Given the description of an element on the screen output the (x, y) to click on. 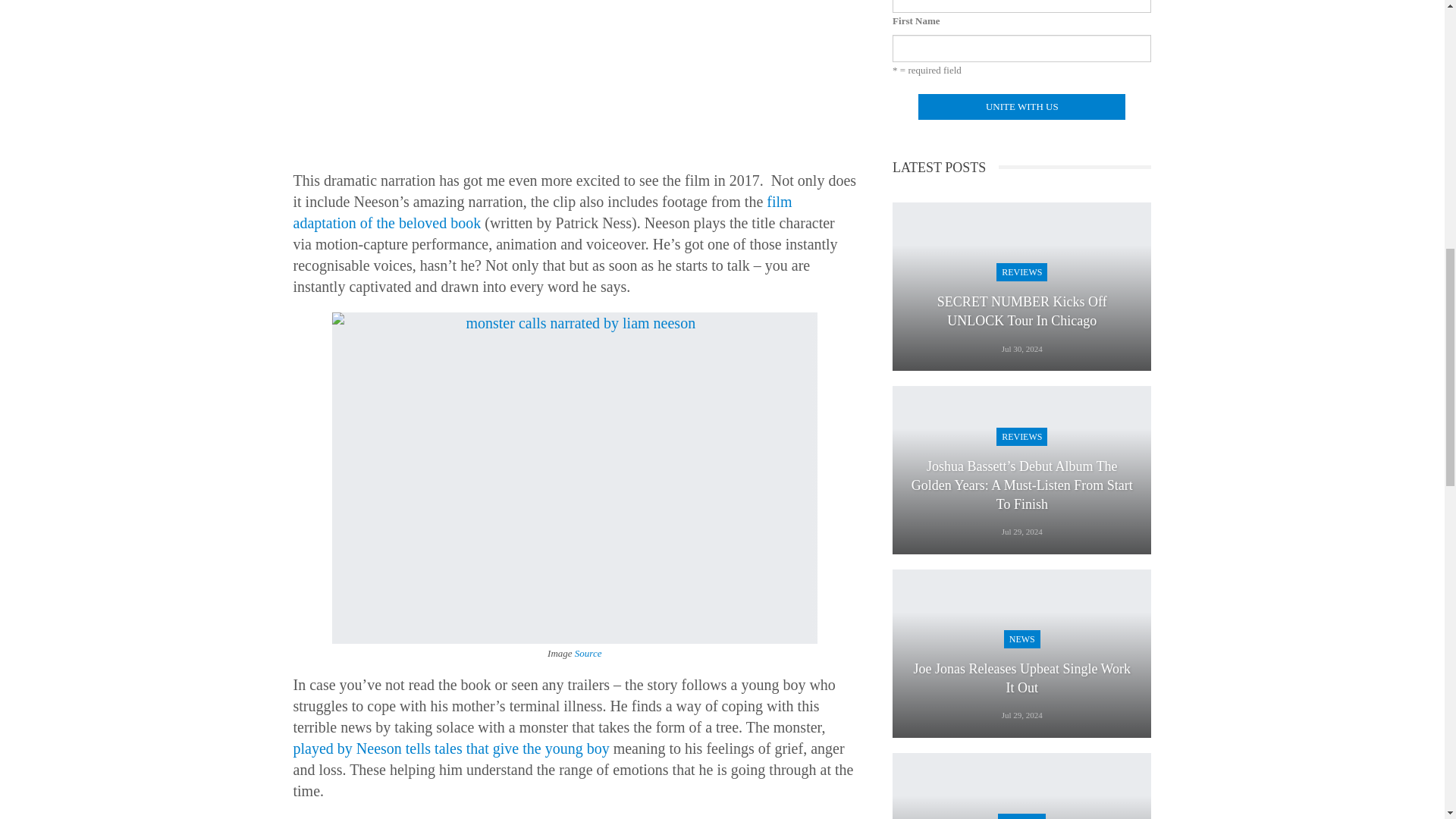
Unite With Us (1021, 106)
